Given the description of an element on the screen output the (x, y) to click on. 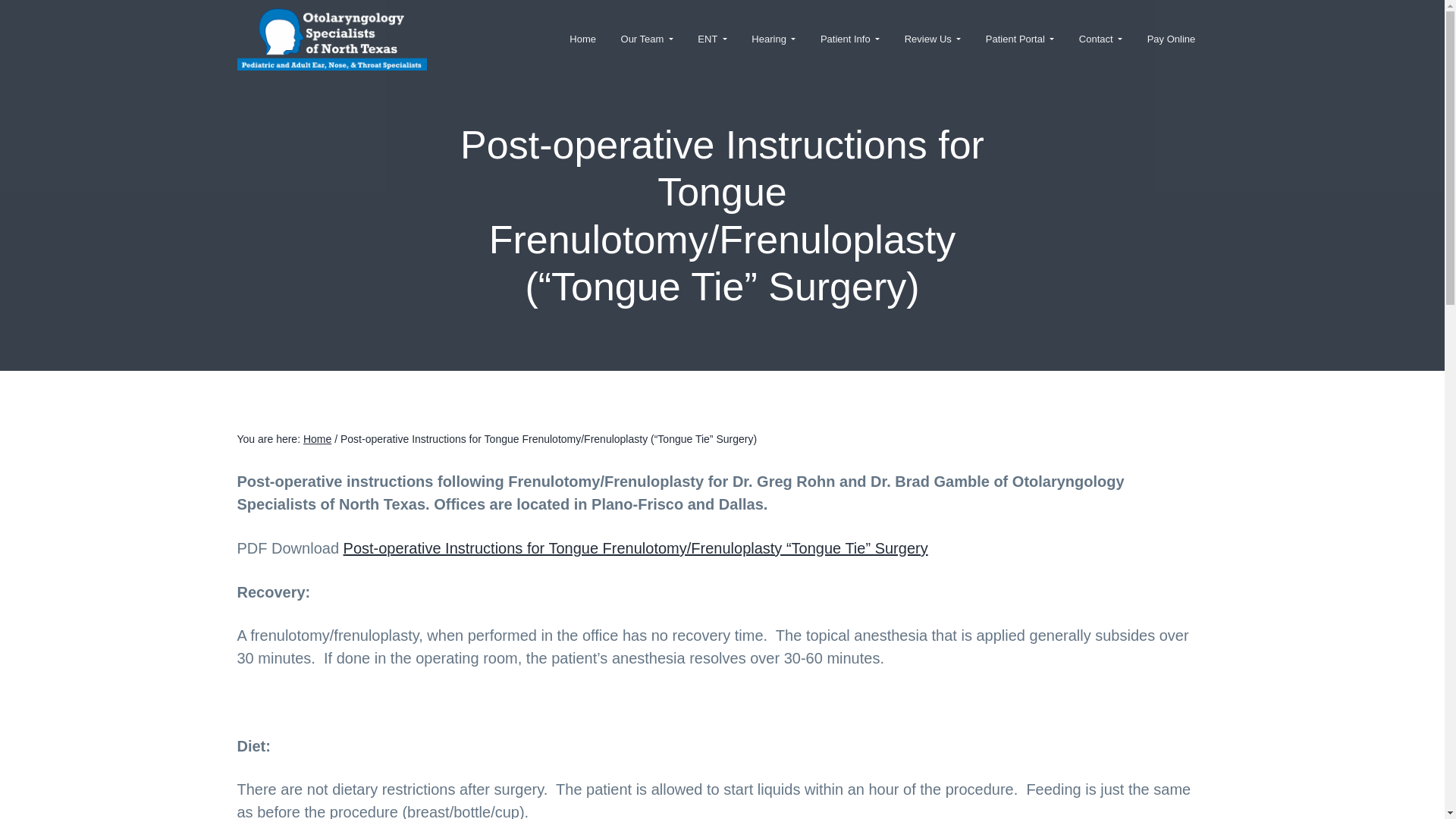
Home (582, 38)
Our Team (646, 38)
Otolaryngology Specialists of North Texas (365, 76)
ENT (712, 38)
